Given the description of an element on the screen output the (x, y) to click on. 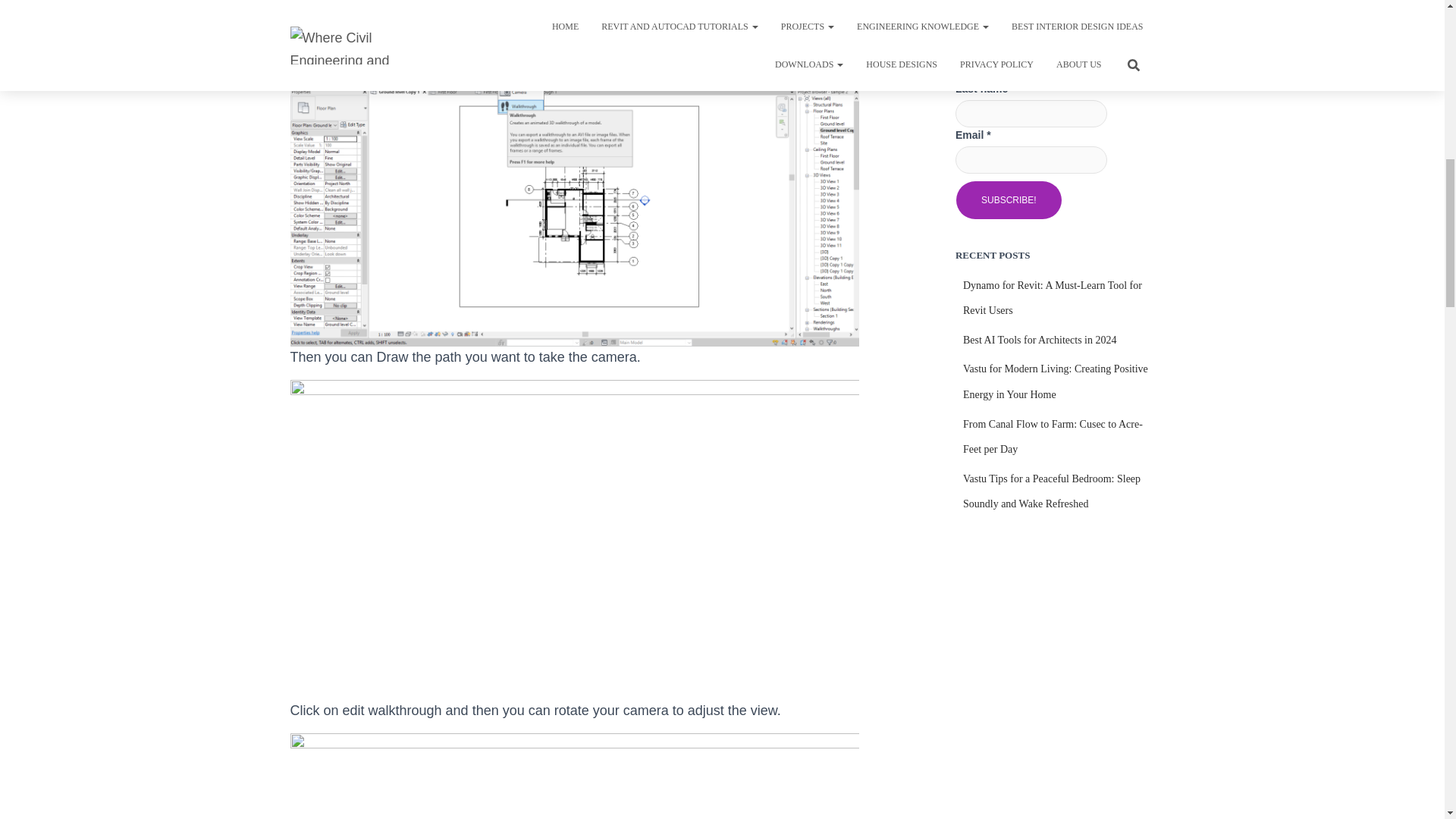
Subscribe! (1008, 199)
